Given the description of an element on the screen output the (x, y) to click on. 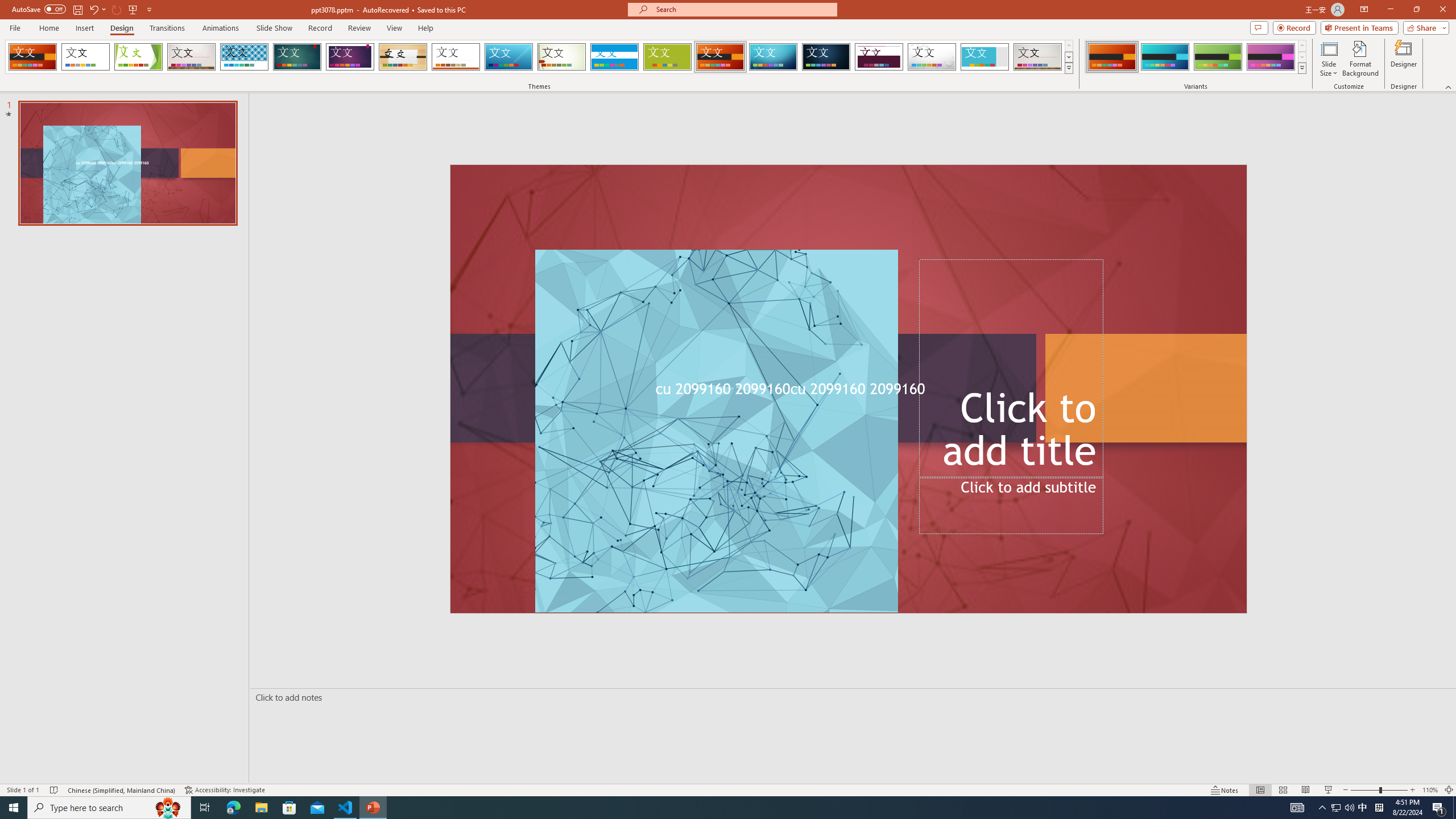
Berlin Variant 4 (1270, 56)
Frame (984, 56)
